Given the description of an element on the screen output the (x, y) to click on. 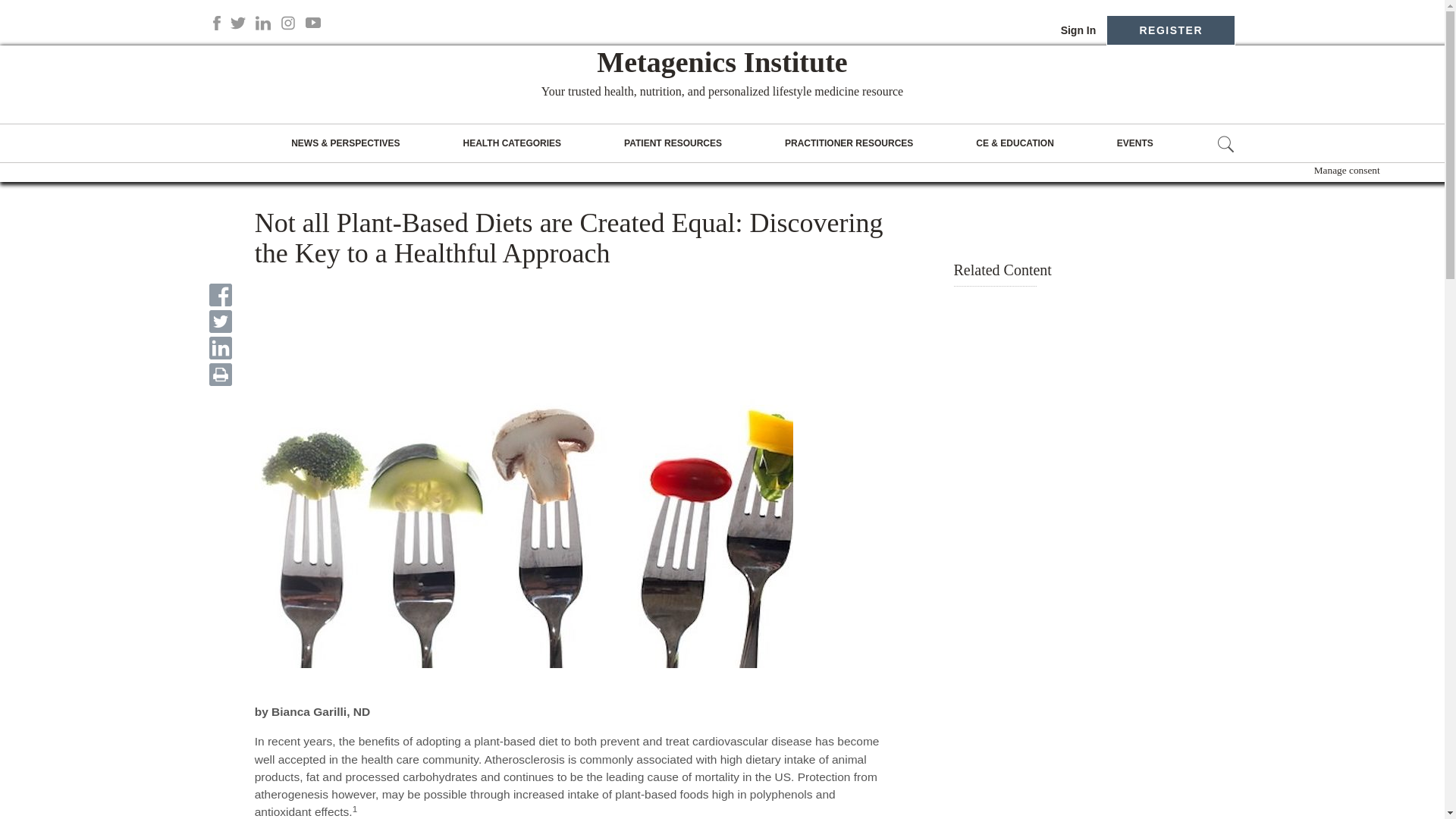
Instagram (288, 22)
Metagenics Institute (721, 61)
Linkedin (263, 22)
Twitter (238, 22)
Sign In (1074, 30)
REGISTER (1170, 30)
Youtube (312, 22)
